Given the description of an element on the screen output the (x, y) to click on. 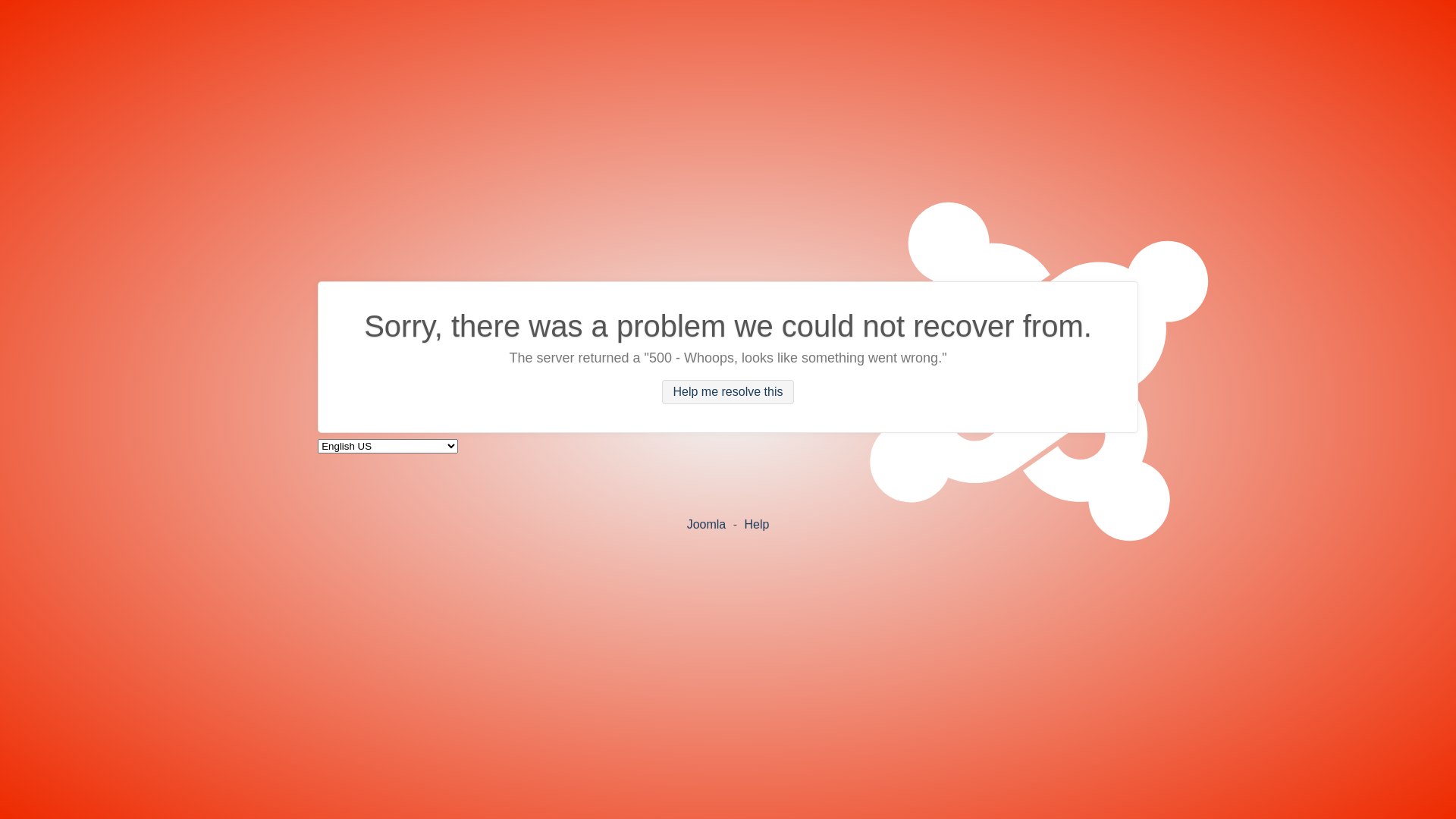
Joomla Element type: text (706, 523)
Help Element type: text (755, 523)
Help me resolve this Element type: text (727, 391)
